Given the description of an element on the screen output the (x, y) to click on. 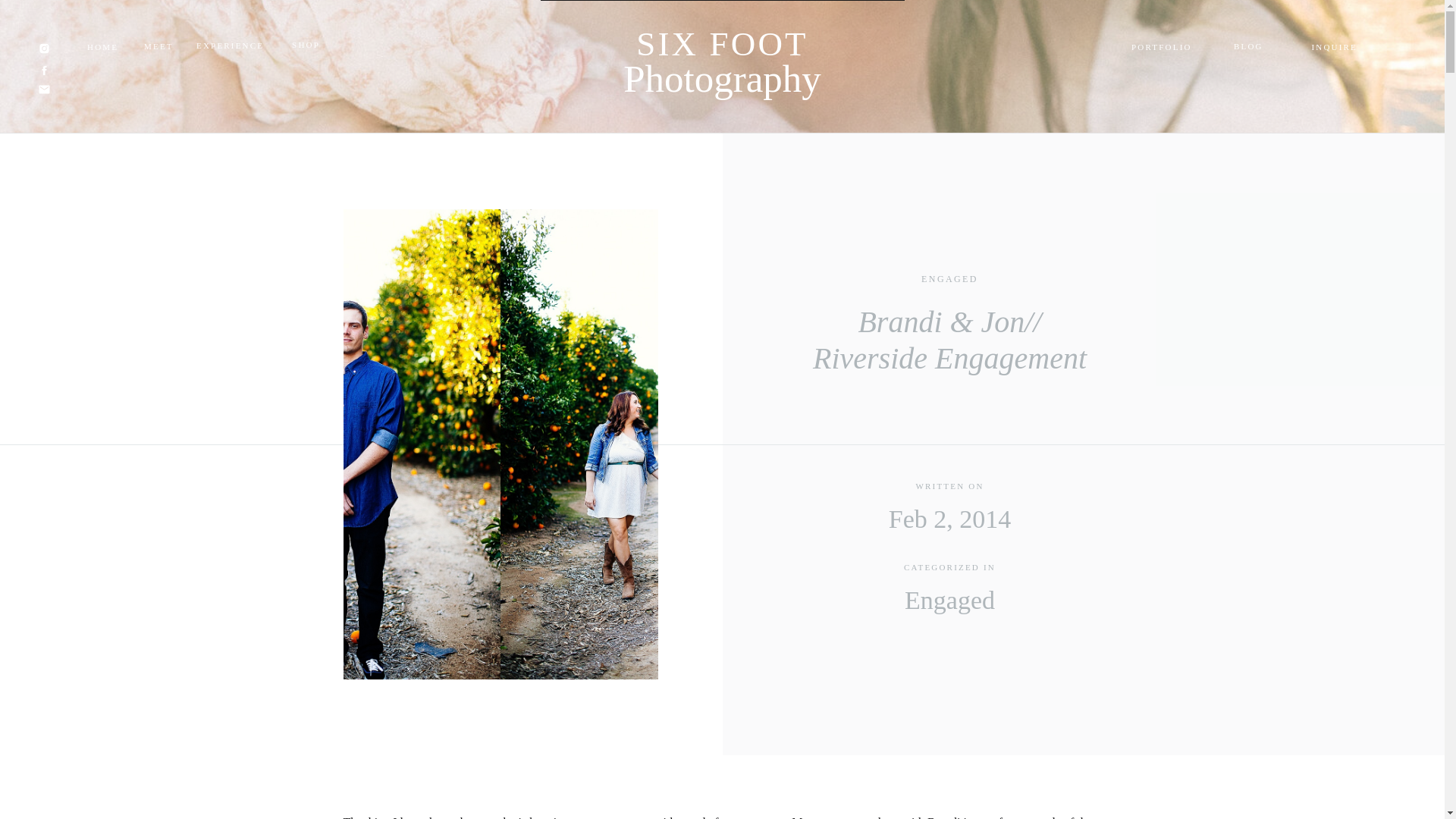
MEET (160, 48)
Photography (722, 81)
EXPERIENCE (232, 47)
Engaged (949, 600)
BLOG (1268, 48)
SIX FOOT (722, 47)
HOME (106, 49)
INQUIRE (1330, 49)
SHOP (302, 46)
ENGAGED (949, 278)
PORTFOLIO (1166, 49)
